Given the description of an element on the screen output the (x, y) to click on. 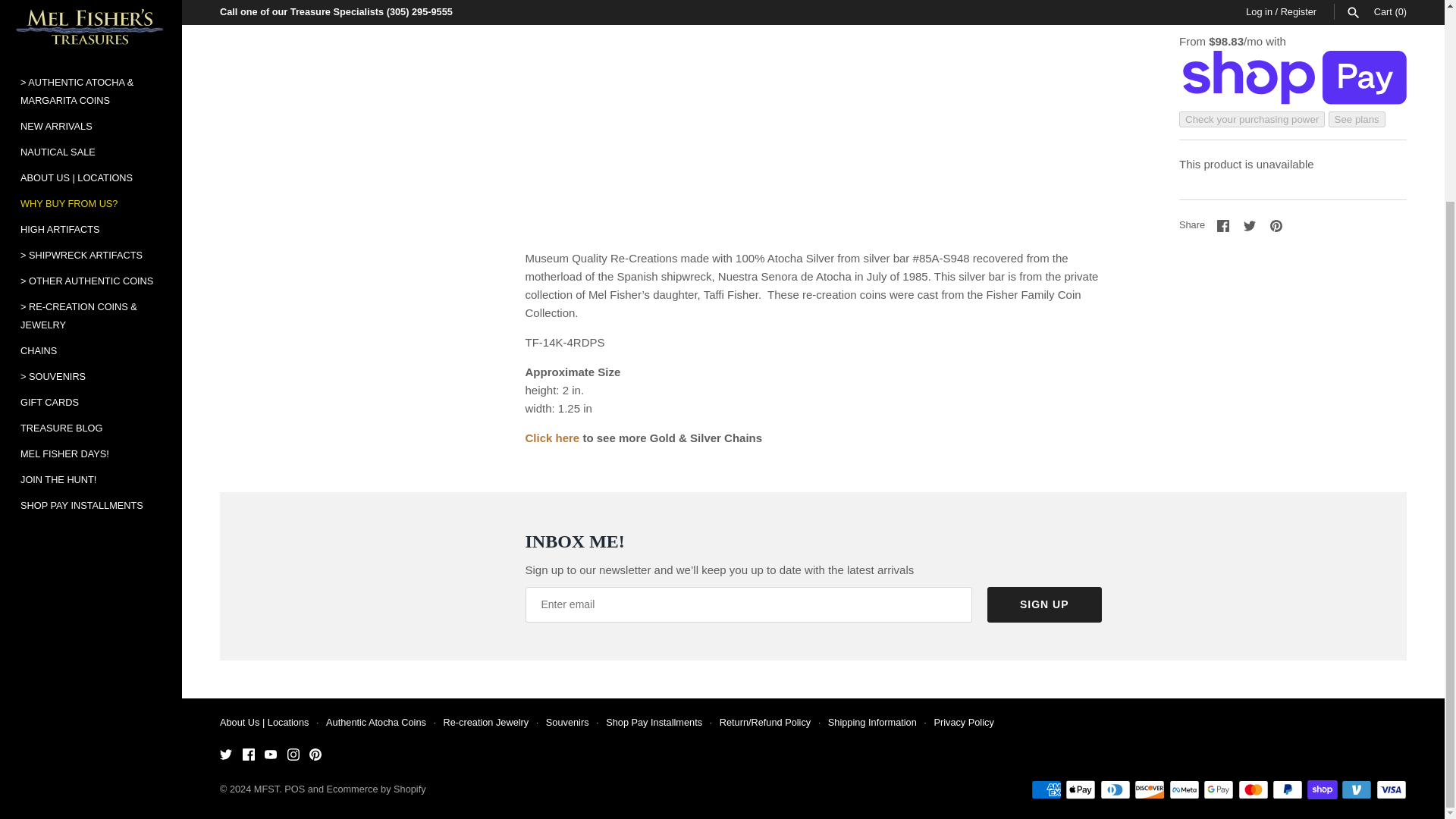
Diners Club (1115, 789)
Twitter (1249, 225)
Pinterest (314, 754)
Instagram (292, 754)
Facebook (1222, 225)
PayPal (1287, 789)
Twitter (225, 754)
American Express (1045, 789)
Facebook (248, 754)
Youtube (270, 754)
